Given the description of an element on the screen output the (x, y) to click on. 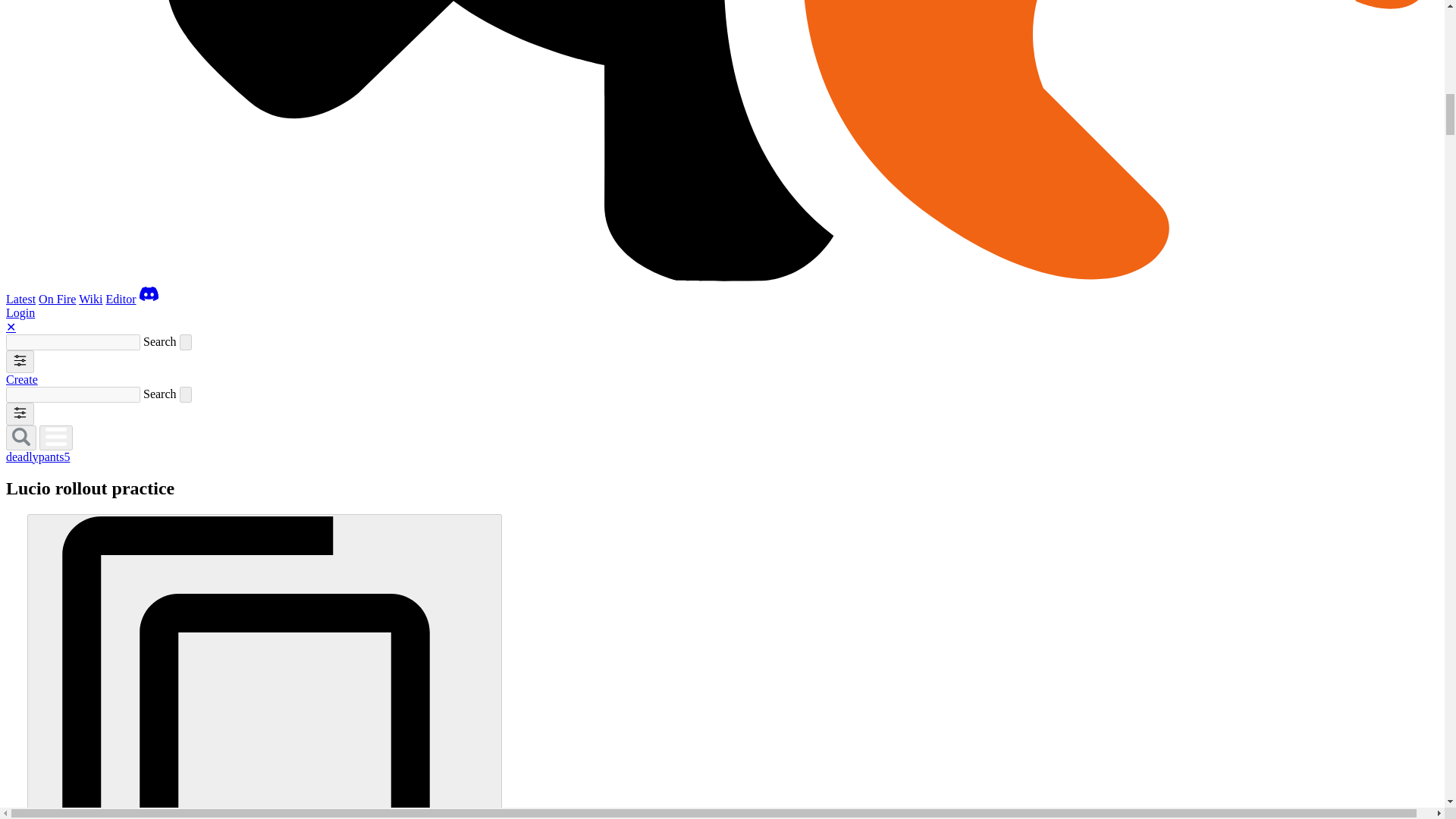
On Fire (57, 298)
Login (19, 312)
Create (21, 379)
Editor (121, 298)
Latest (19, 298)
Wiki (89, 298)
